Given the description of an element on the screen output the (x, y) to click on. 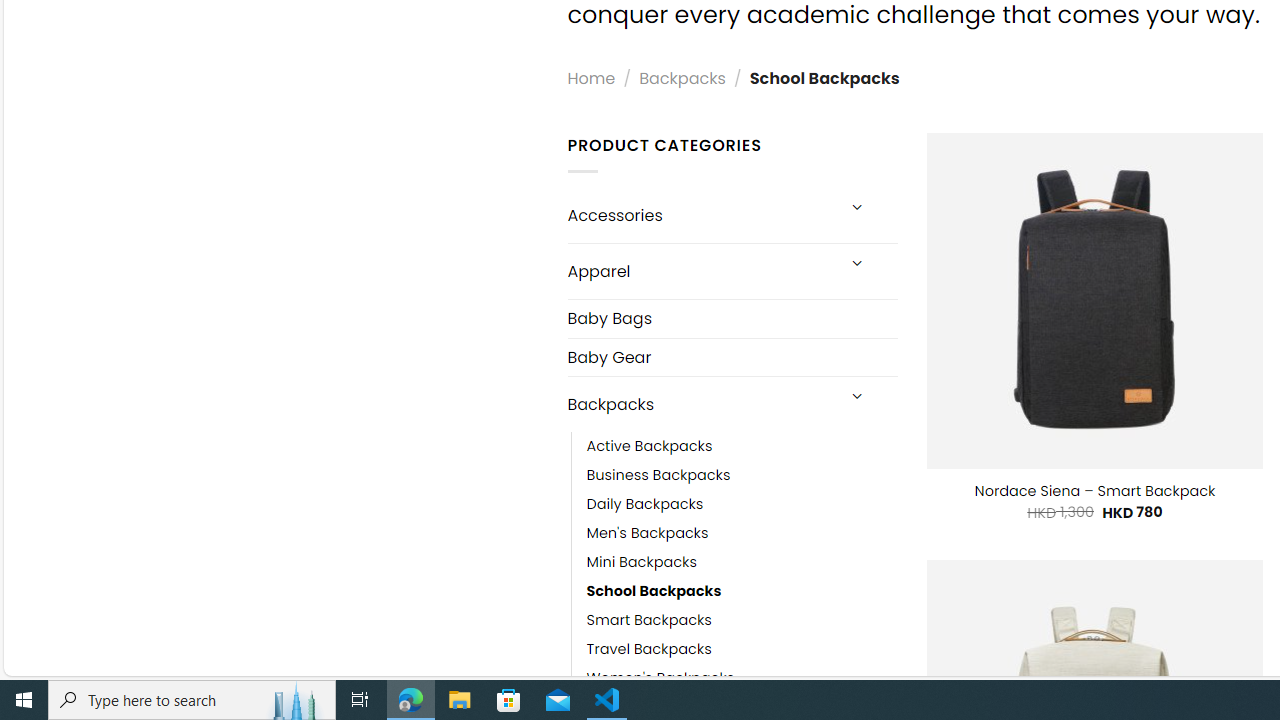
Accessories (700, 215)
Mini Backpacks (641, 562)
School Backpacks (742, 591)
School Backpacks (653, 591)
Smart Backpacks (648, 620)
Baby Bags (732, 317)
Apparel (700, 270)
Business Backpacks (742, 475)
Daily Backpacks (645, 504)
Smart Backpacks (742, 620)
Women's Backpacks (742, 678)
Backpacks (700, 404)
Men's Backpacks (647, 533)
